Given the description of an element on the screen output the (x, y) to click on. 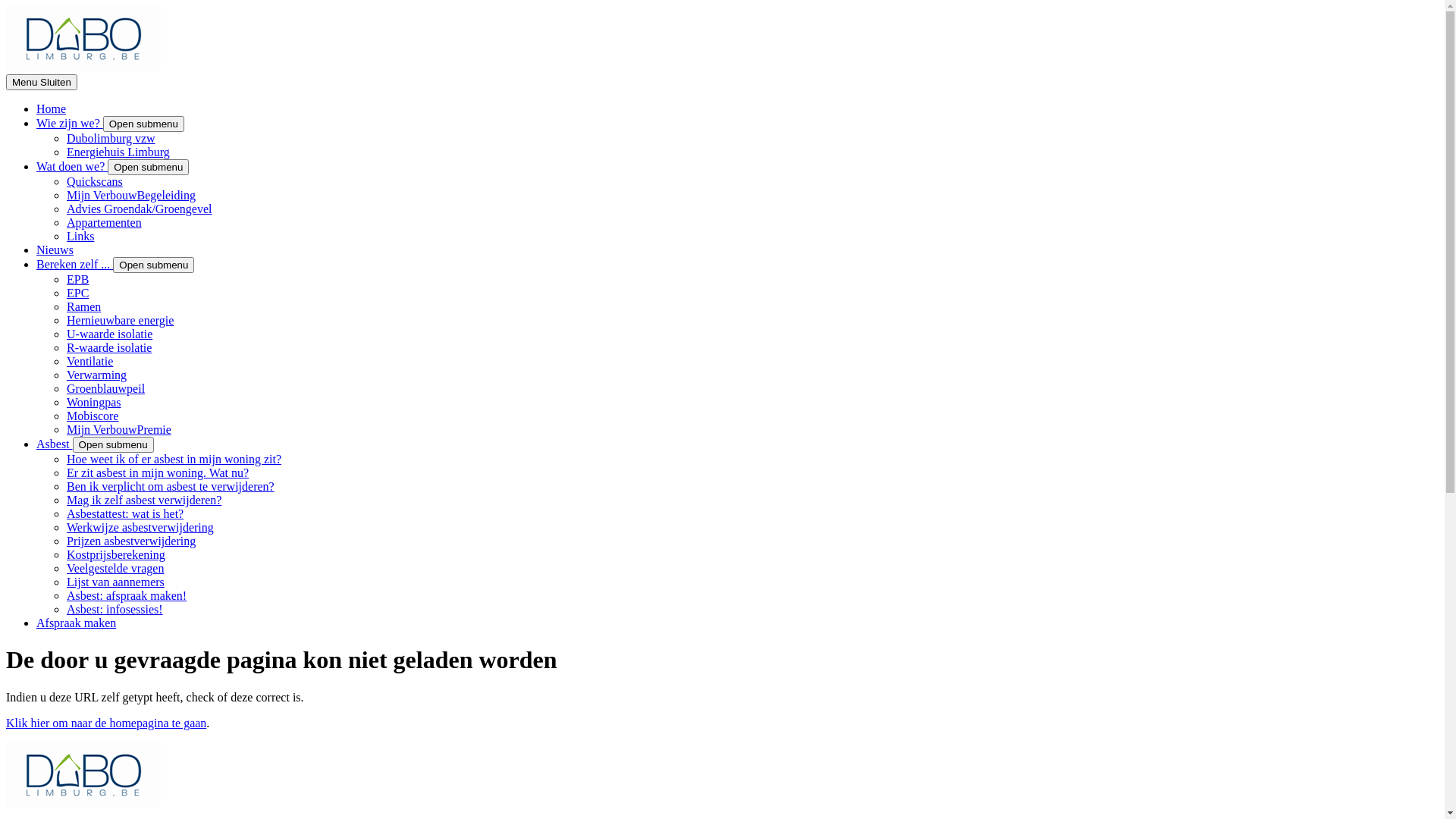
Mijn VerbouwBegeleiding Element type: text (130, 194)
Groenblauwpeil Element type: text (105, 388)
Home Element type: text (50, 108)
EPC Element type: text (77, 292)
Ventilatie Element type: text (89, 360)
Open submenu Element type: text (153, 265)
Dubolimburg vzw Element type: text (110, 137)
Appartementen Element type: text (103, 222)
Menu Sluiten Element type: text (41, 82)
Werkwijze asbestverwijdering Element type: text (139, 526)
U-waarde isolatie Element type: text (109, 333)
Mag ik zelf asbest verwijderen? Element type: text (143, 499)
Asbest: afspraak maken! Element type: text (126, 595)
R-waarde isolatie Element type: text (108, 347)
Open submenu Element type: text (112, 444)
Verwarming Element type: text (96, 374)
Nieuws Element type: text (54, 249)
Mijn VerbouwPremie Element type: text (118, 429)
Wat doen we? Element type: text (71, 166)
Wie zijn we? Element type: text (69, 122)
Prijzen asbestverwijdering Element type: text (130, 540)
Er zit asbest in mijn woning. Wat nu? Element type: text (157, 472)
Asbest: infosessies! Element type: text (114, 608)
Open submenu Element type: text (147, 167)
Ramen Element type: text (83, 306)
Afspraak maken Element type: text (76, 622)
Advies Groendak/Groengevel Element type: text (139, 208)
Open submenu Element type: text (143, 123)
Links Element type: text (80, 235)
Bereken zelf ... Element type: text (74, 263)
Asbest Element type: text (54, 443)
Quickscans Element type: text (94, 181)
EPB Element type: text (77, 279)
Klik hier om naar de homepagina te gaan Element type: text (106, 722)
Energiehuis Limburg Element type: text (117, 151)
Woningpas Element type: text (93, 401)
Lijst van aannemers Element type: text (115, 581)
Asbestattest: wat is het? Element type: text (124, 513)
Veelgestelde vragen Element type: text (114, 567)
Hernieuwbare energie Element type: text (119, 319)
Mobiscore Element type: text (92, 415)
Hoe weet ik of er asbest in mijn woning zit? Element type: text (173, 458)
Kostprijsberekening Element type: text (115, 554)
Ben ik verplicht om asbest te verwijderen? Element type: text (170, 486)
